Given the description of an element on the screen output the (x, y) to click on. 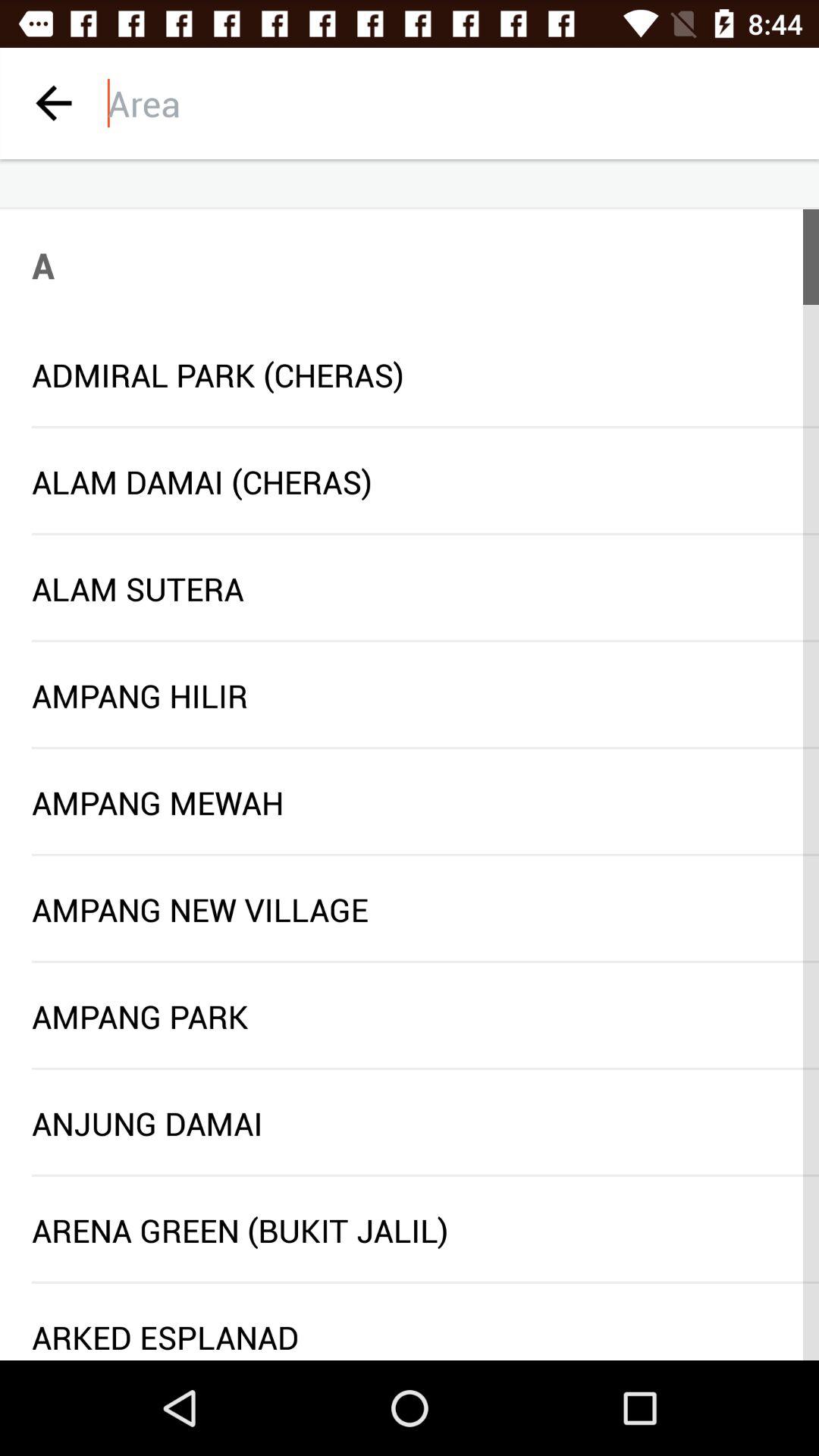
select icon below ampang hilir item (425, 747)
